Given the description of an element on the screen output the (x, y) to click on. 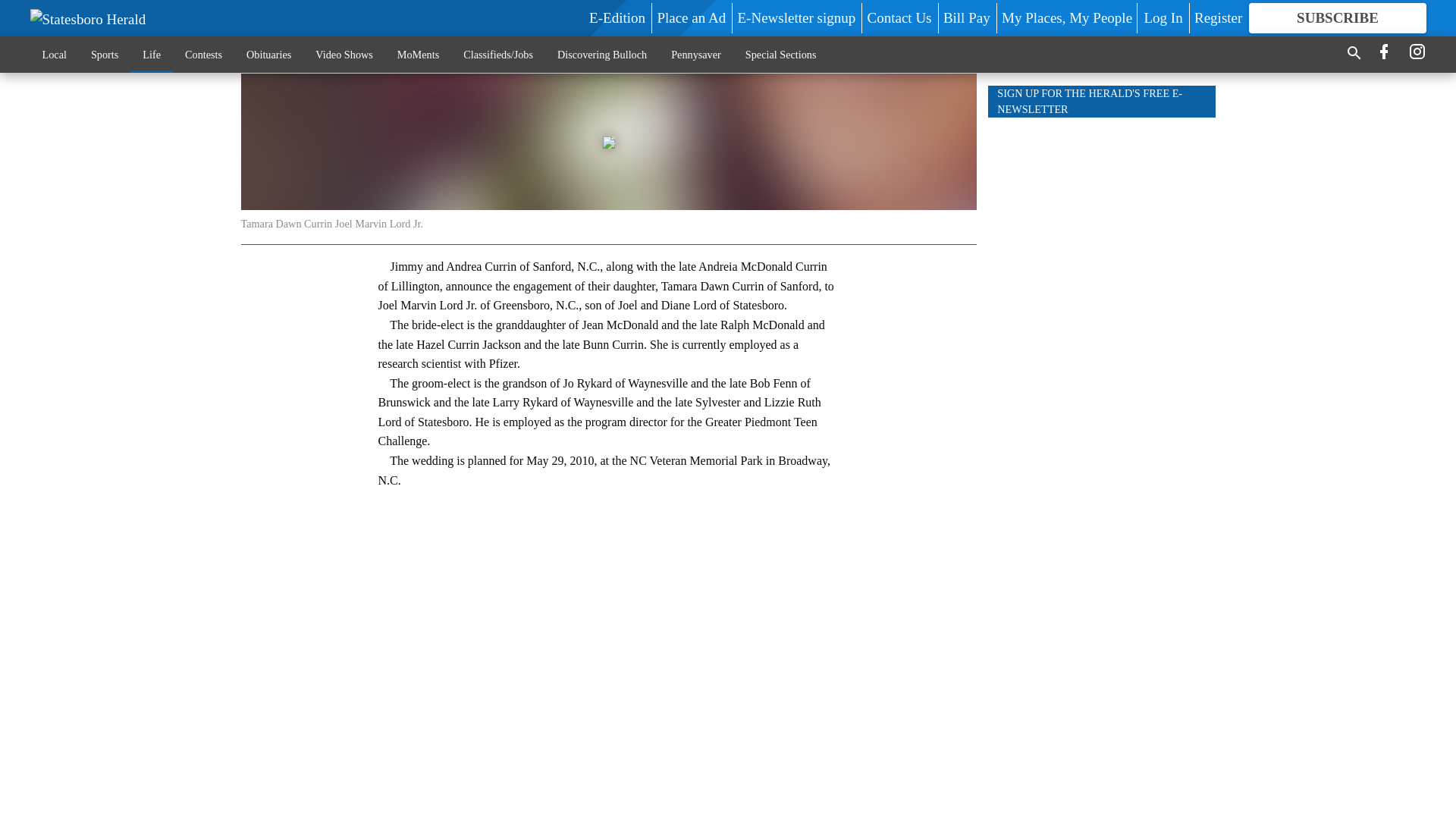
E-Newsletter signup (797, 17)
Contact Us (899, 17)
Register (1217, 17)
Bill Pay (966, 17)
E-Edition (617, 17)
Place an Ad (690, 17)
SUBSCRIBE (1337, 18)
Log In (1162, 17)
My Places, My People (1066, 17)
